Given the description of an element on the screen output the (x, y) to click on. 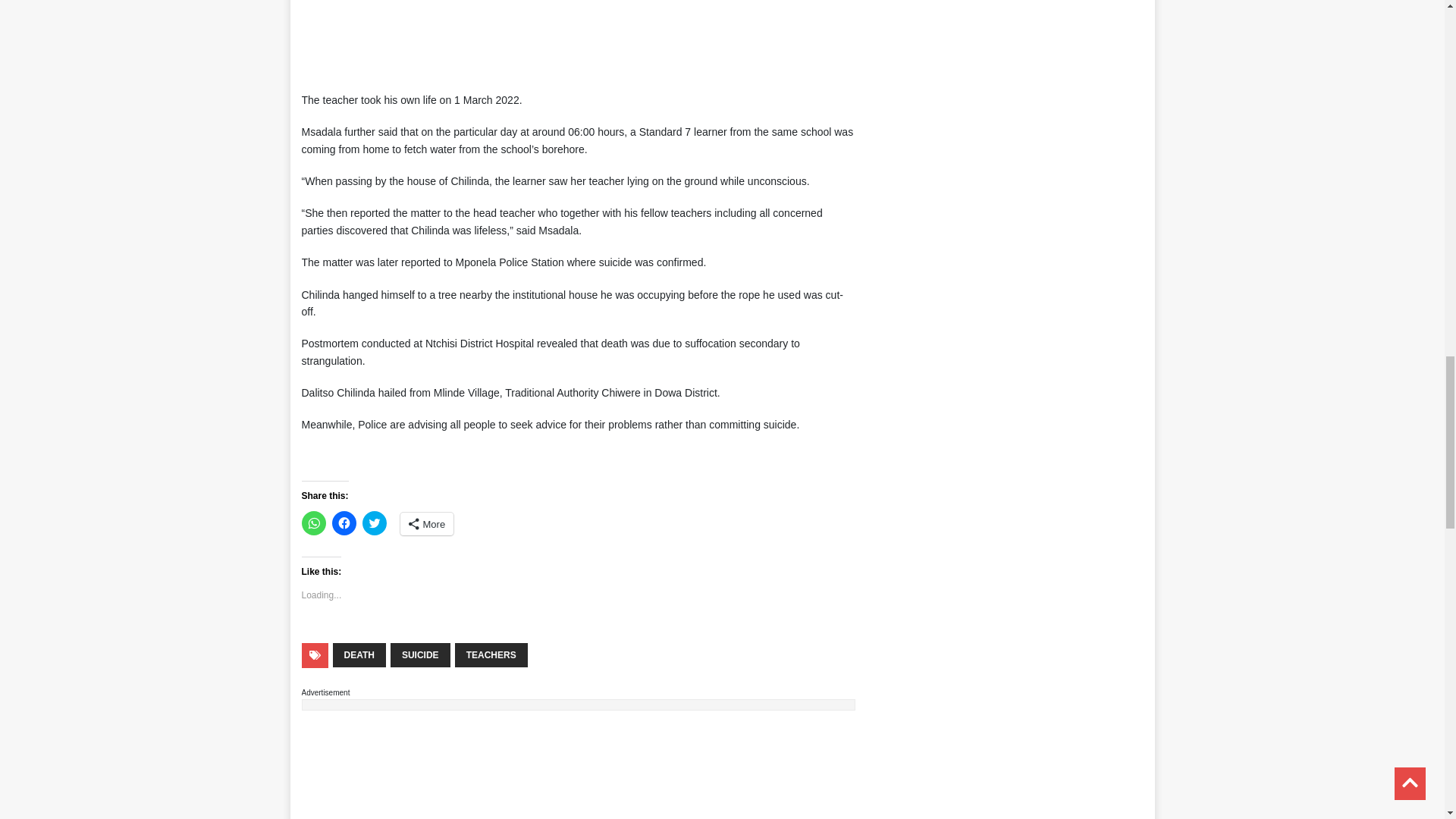
Click to share on WhatsApp (313, 523)
Click to share on Twitter (374, 523)
Click to share on Facebook (343, 523)
